Given the description of an element on the screen output the (x, y) to click on. 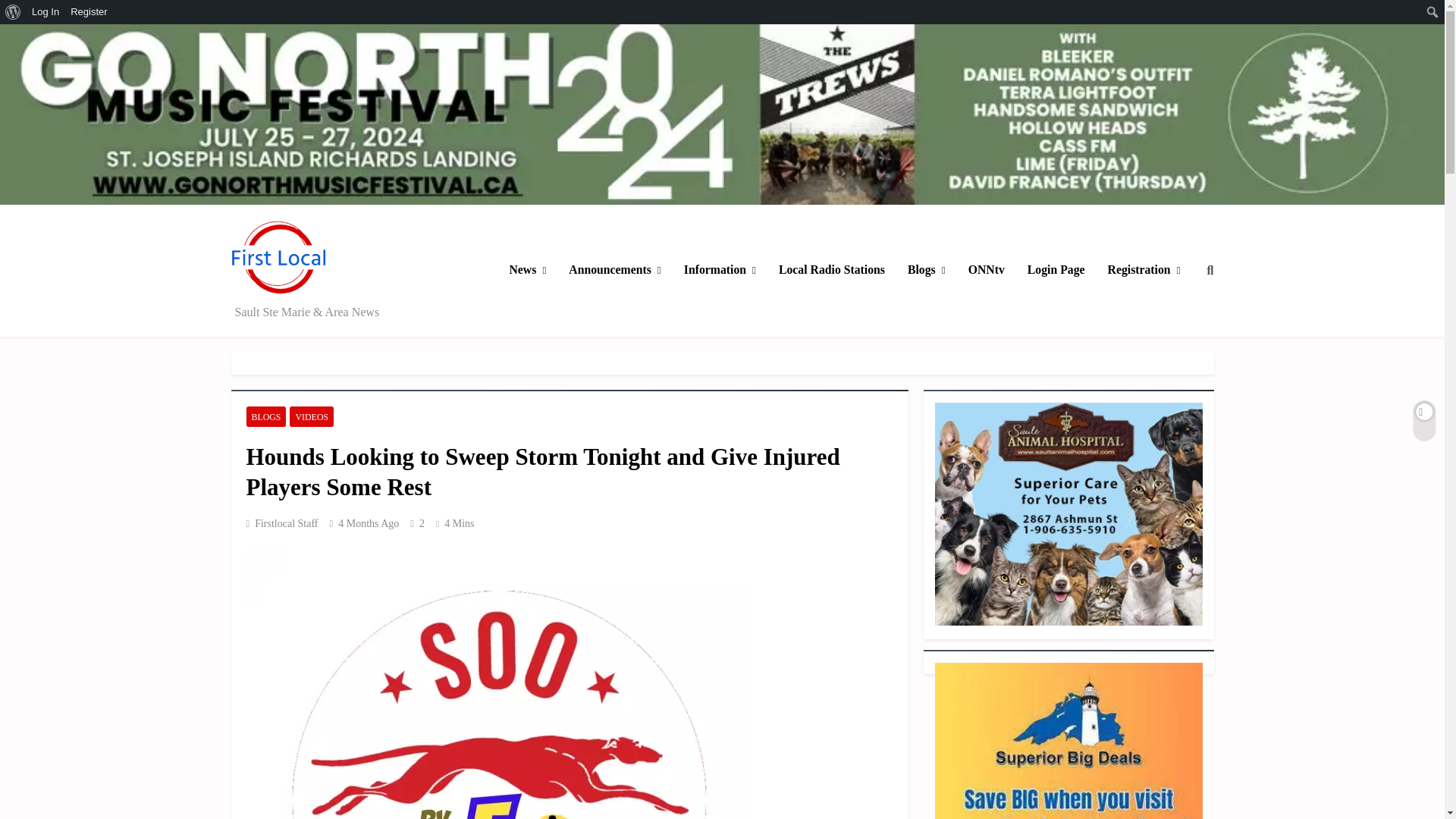
FirstLocalNews.Com (315, 316)
Local Radio Stations (831, 269)
Blogs (926, 270)
News (527, 270)
Announcements (614, 270)
Information (719, 270)
